Given the description of an element on the screen output the (x, y) to click on. 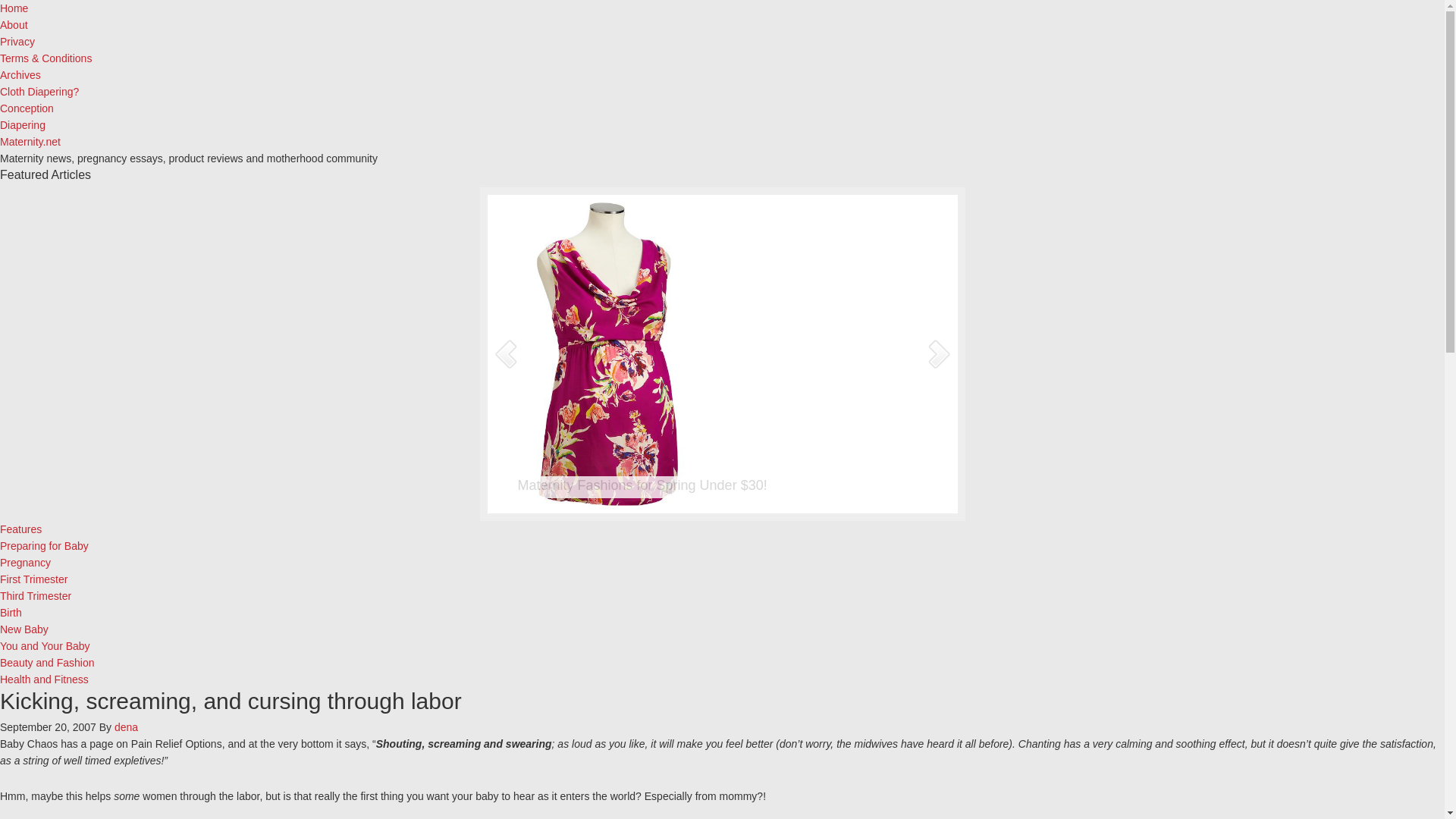
Cloth Diapering? (39, 91)
Beauty and Fashion (47, 662)
New Baby (24, 629)
Home (13, 8)
Archives (20, 74)
First Trimester (33, 579)
dena (126, 727)
Maternity.net (30, 141)
You and Your Baby (45, 645)
Features (21, 529)
